Given the description of an element on the screen output the (x, y) to click on. 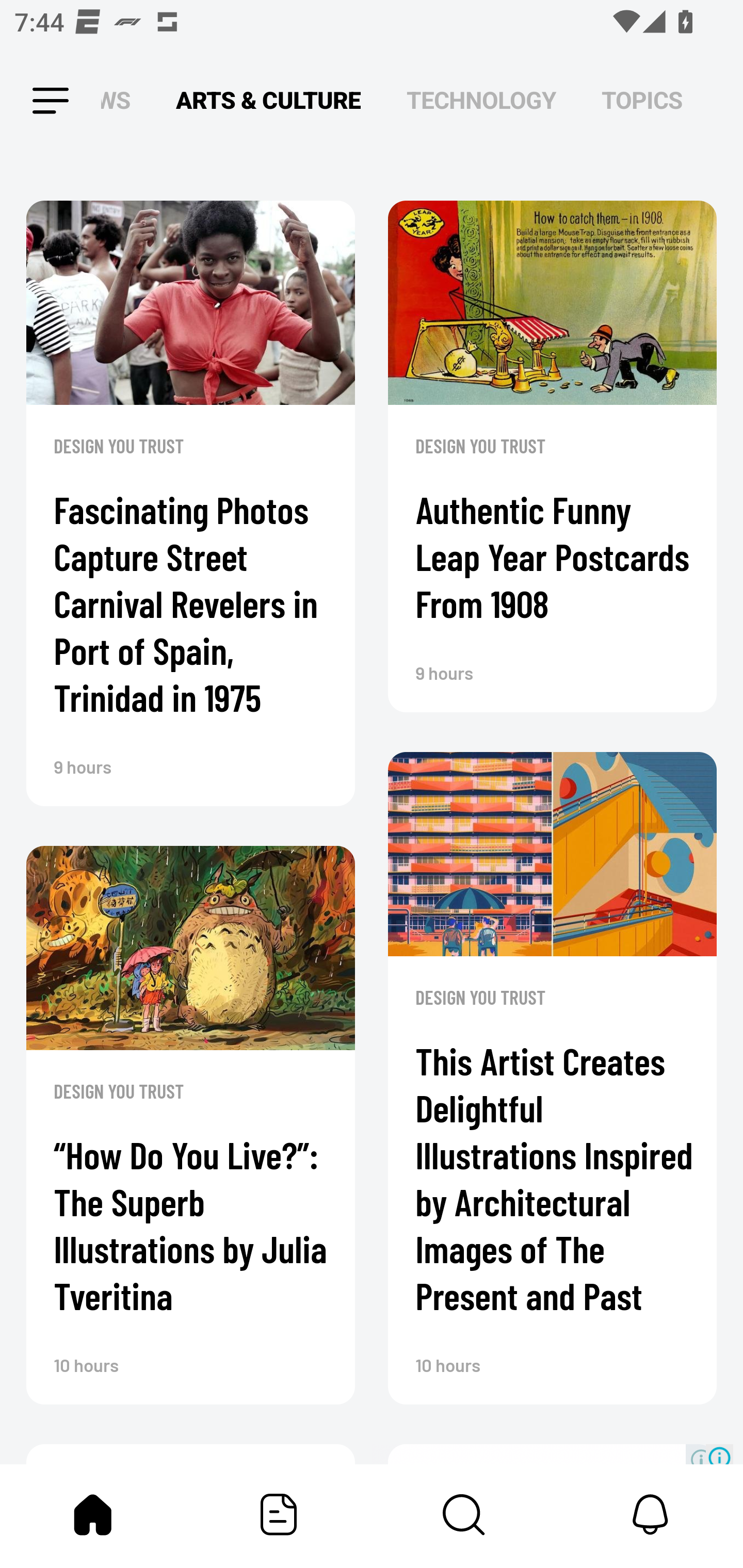
Leading Icon (32, 101)
NEWS (121, 100)
TECHNOLOGY (481, 100)
TOPICS (641, 100)
Featured (278, 1514)
Content Store (464, 1514)
Notifications (650, 1514)
